Given the description of an element on the screen output the (x, y) to click on. 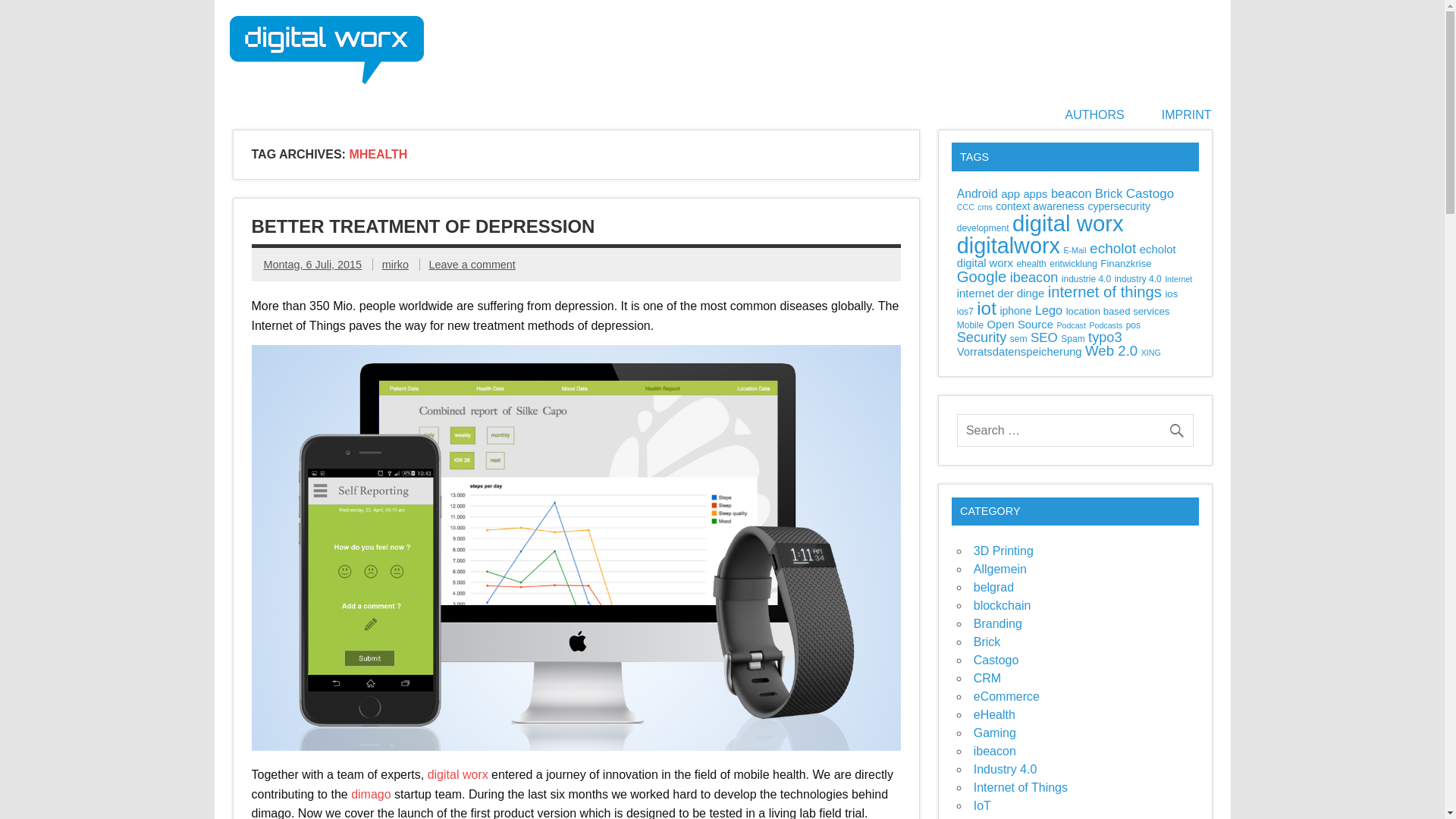
digital worx (457, 774)
ibeacon (1034, 277)
app (1010, 193)
Leave a comment (471, 264)
internet of things (1104, 291)
11:30 am (312, 264)
Finanzkrise (1125, 263)
ehealth (1030, 263)
E-Mail (1074, 249)
mirko (395, 264)
